Given the description of an element on the screen output the (x, y) to click on. 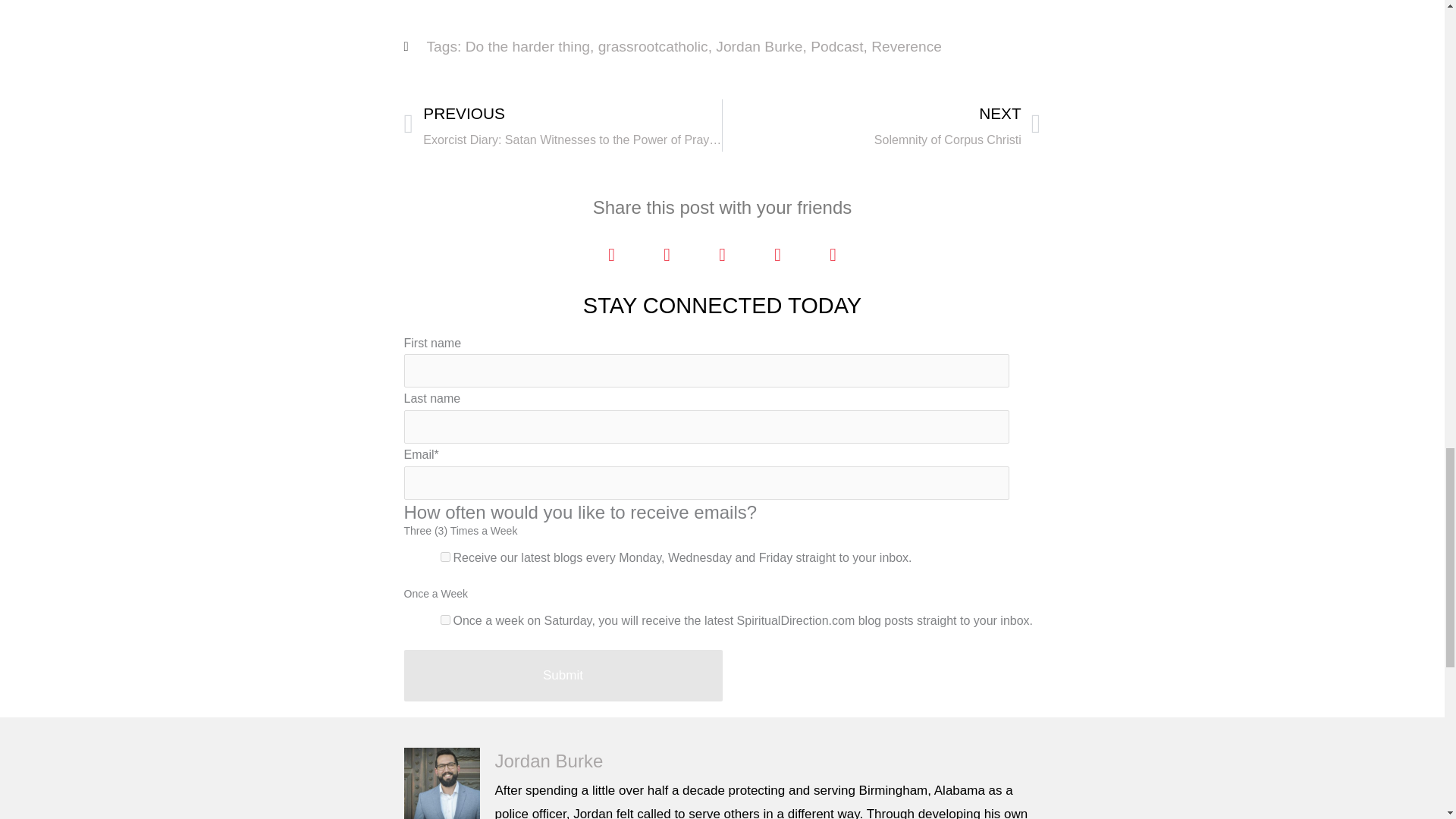
true (444, 619)
Submit (562, 675)
true (444, 556)
